Given the description of an element on the screen output the (x, y) to click on. 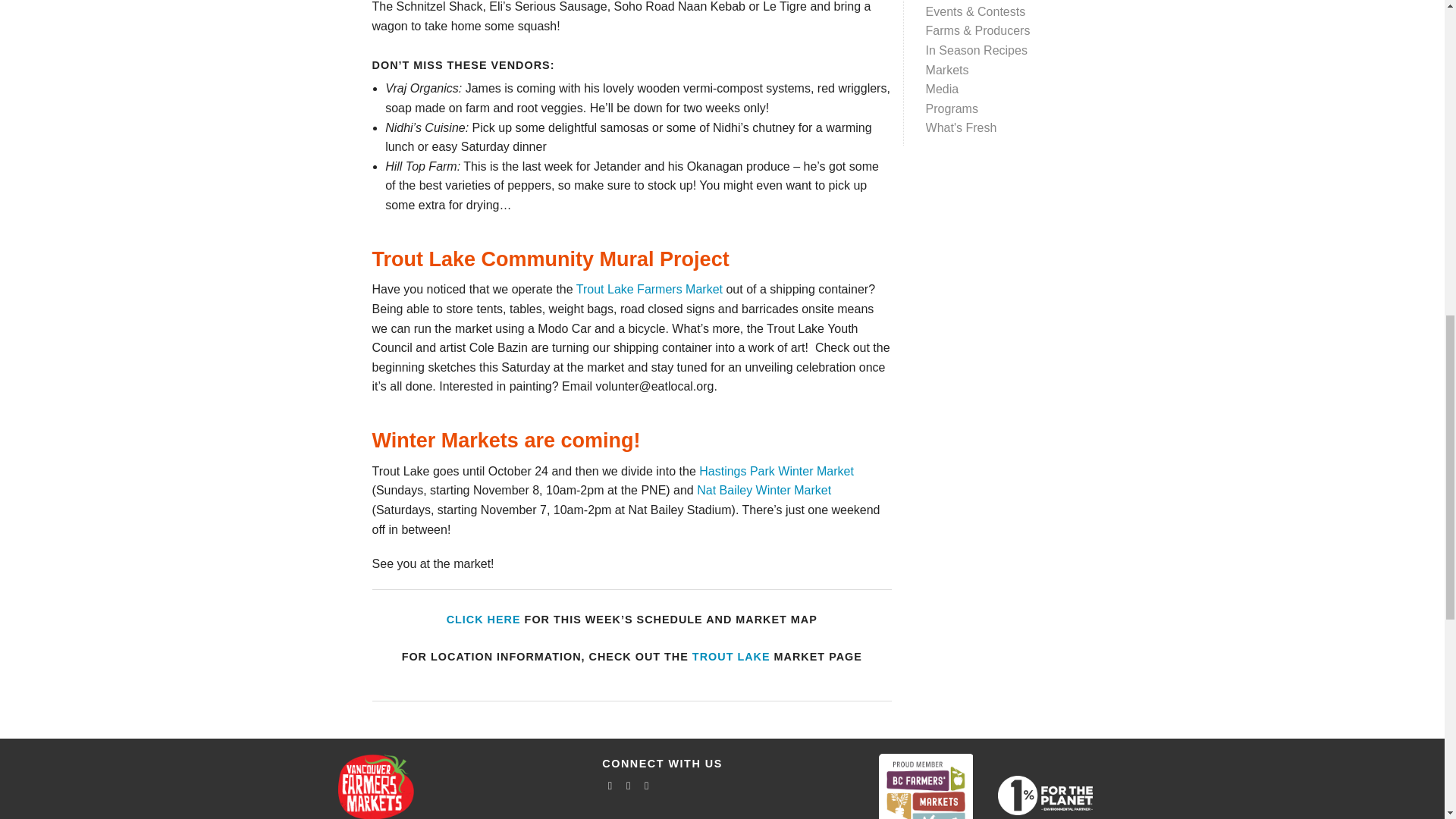
Trout Lake (731, 656)
